Given the description of an element on the screen output the (x, y) to click on. 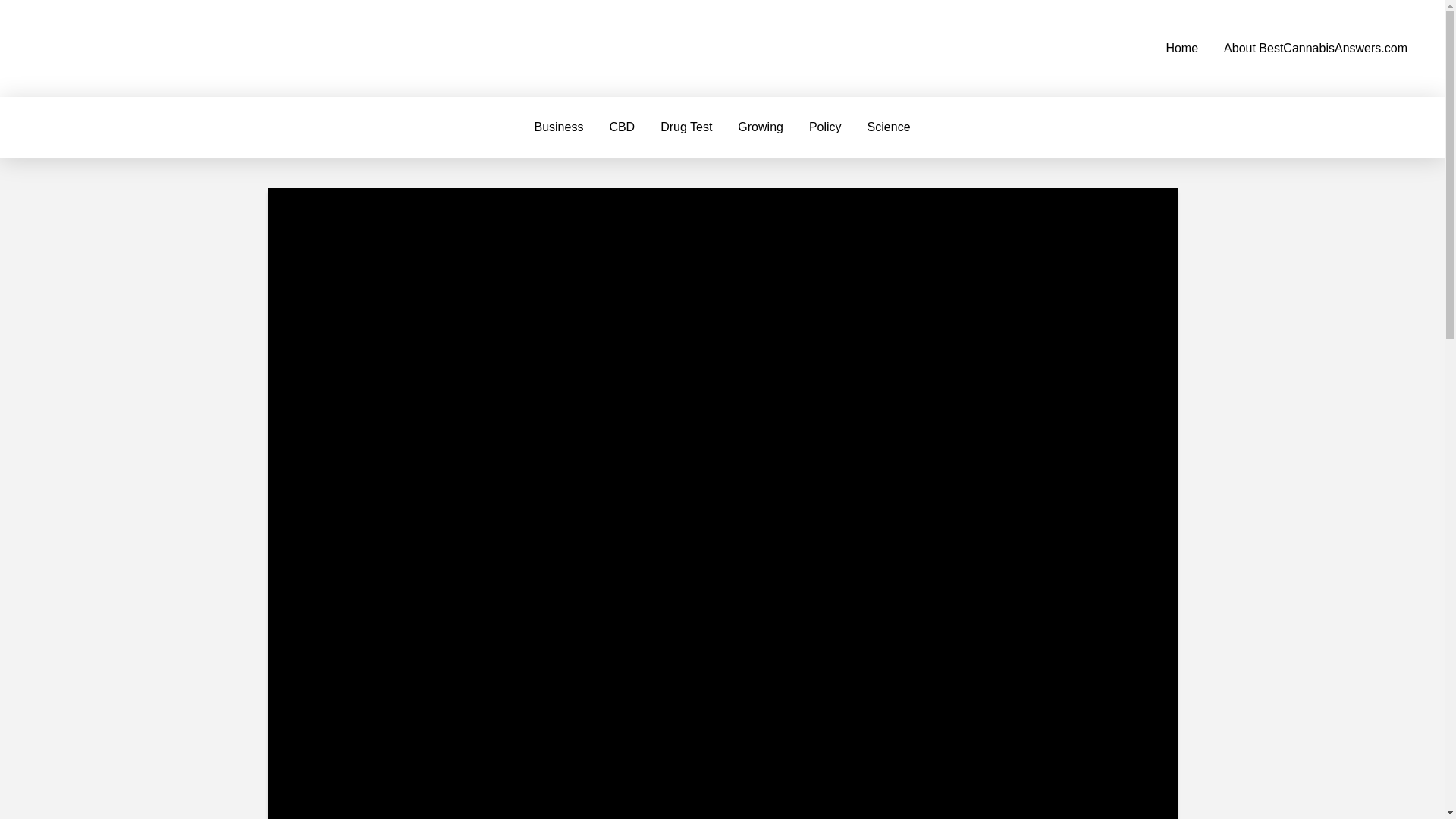
Policy (825, 127)
Business (558, 127)
Drug Test (686, 127)
About BestCannabisAnswers.com (1316, 48)
Growing (760, 127)
CBD (621, 127)
Science (888, 127)
